Given the description of an element on the screen output the (x, y) to click on. 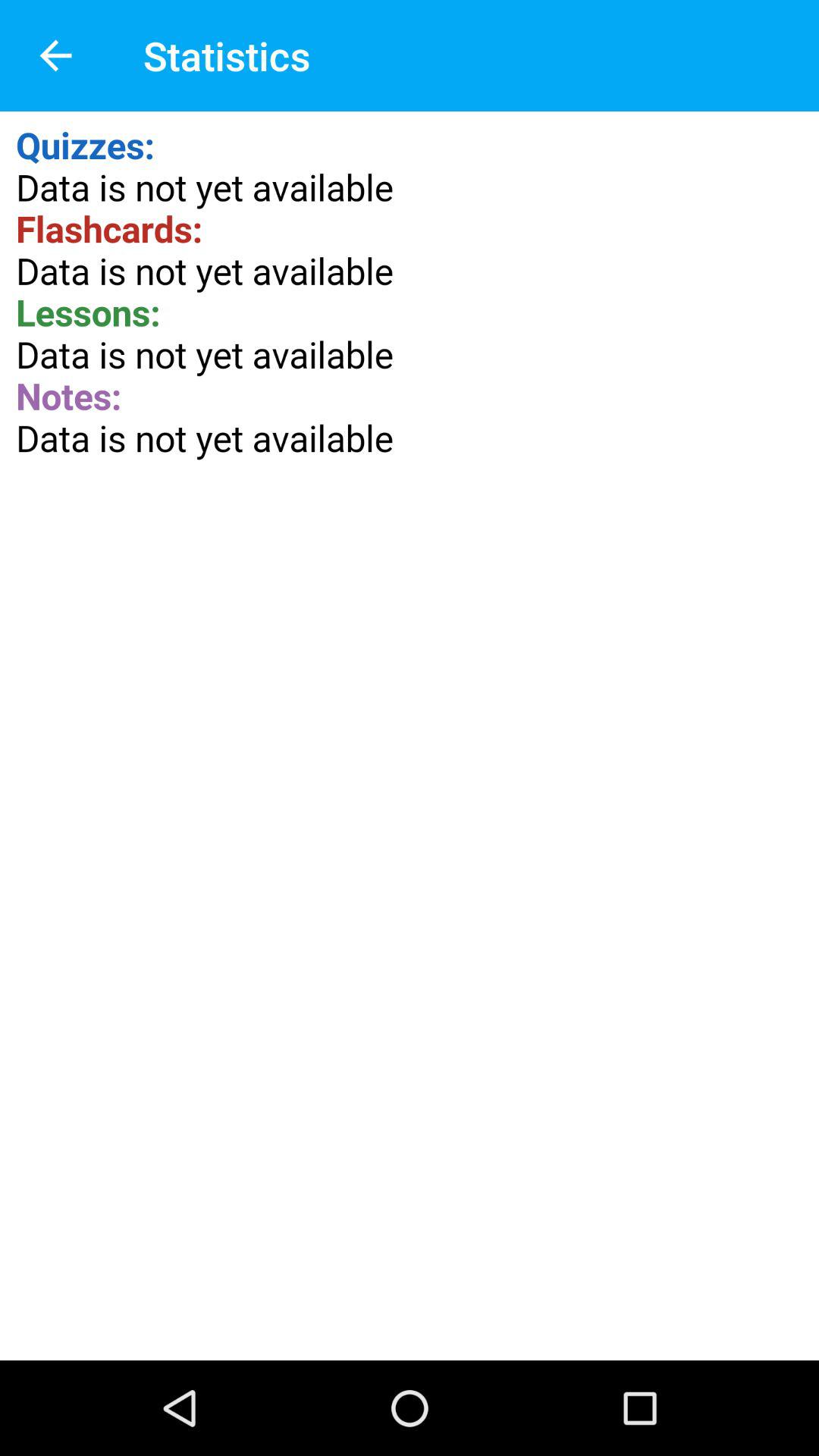
launch item at the center (409, 735)
